Given the description of an element on the screen output the (x, y) to click on. 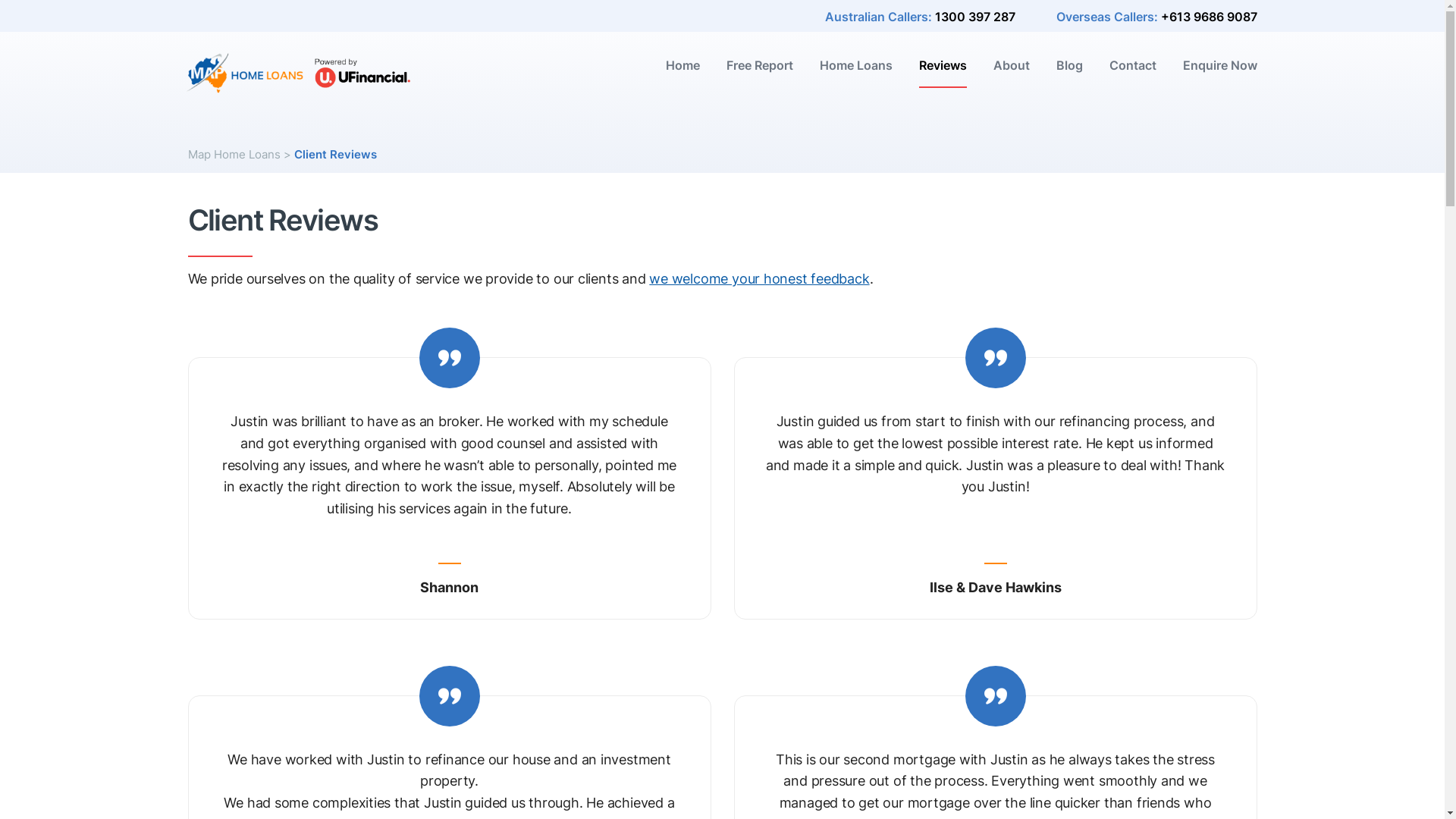
1300 397 287 Element type: text (974, 16)
Free Report Element type: text (759, 72)
Enquire Now Element type: text (1220, 72)
About Element type: text (1011, 72)
+613 9686 9087 Element type: text (1208, 16)
Map Home Loans Element type: text (234, 154)
Home Element type: text (682, 72)
Home Loans Element type: text (855, 72)
Contact Element type: text (1131, 72)
we welcome your honest feedback Element type: text (759, 278)
Blog Element type: text (1068, 72)
Reviews Element type: text (942, 72)
